Given the description of an element on the screen output the (x, y) to click on. 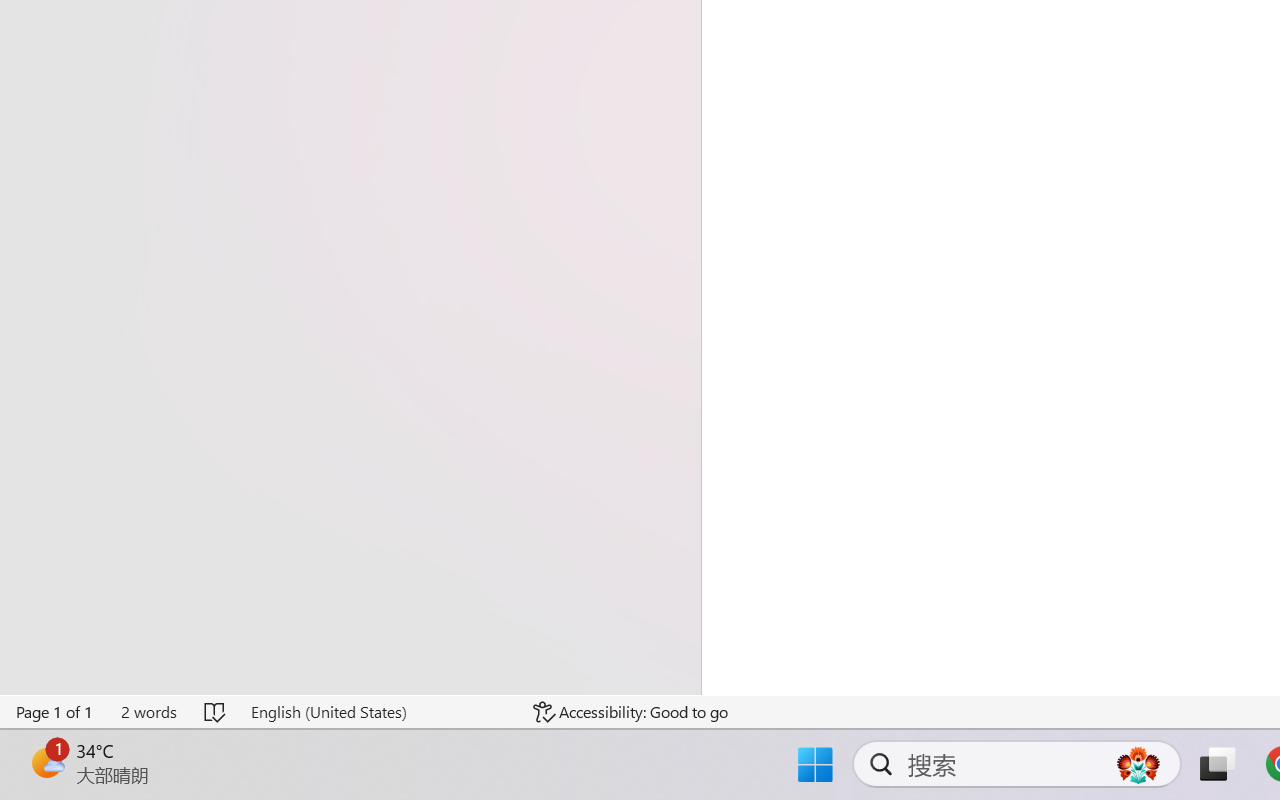
Page Number Page 1 of 1 (55, 712)
